Given the description of an element on the screen output the (x, y) to click on. 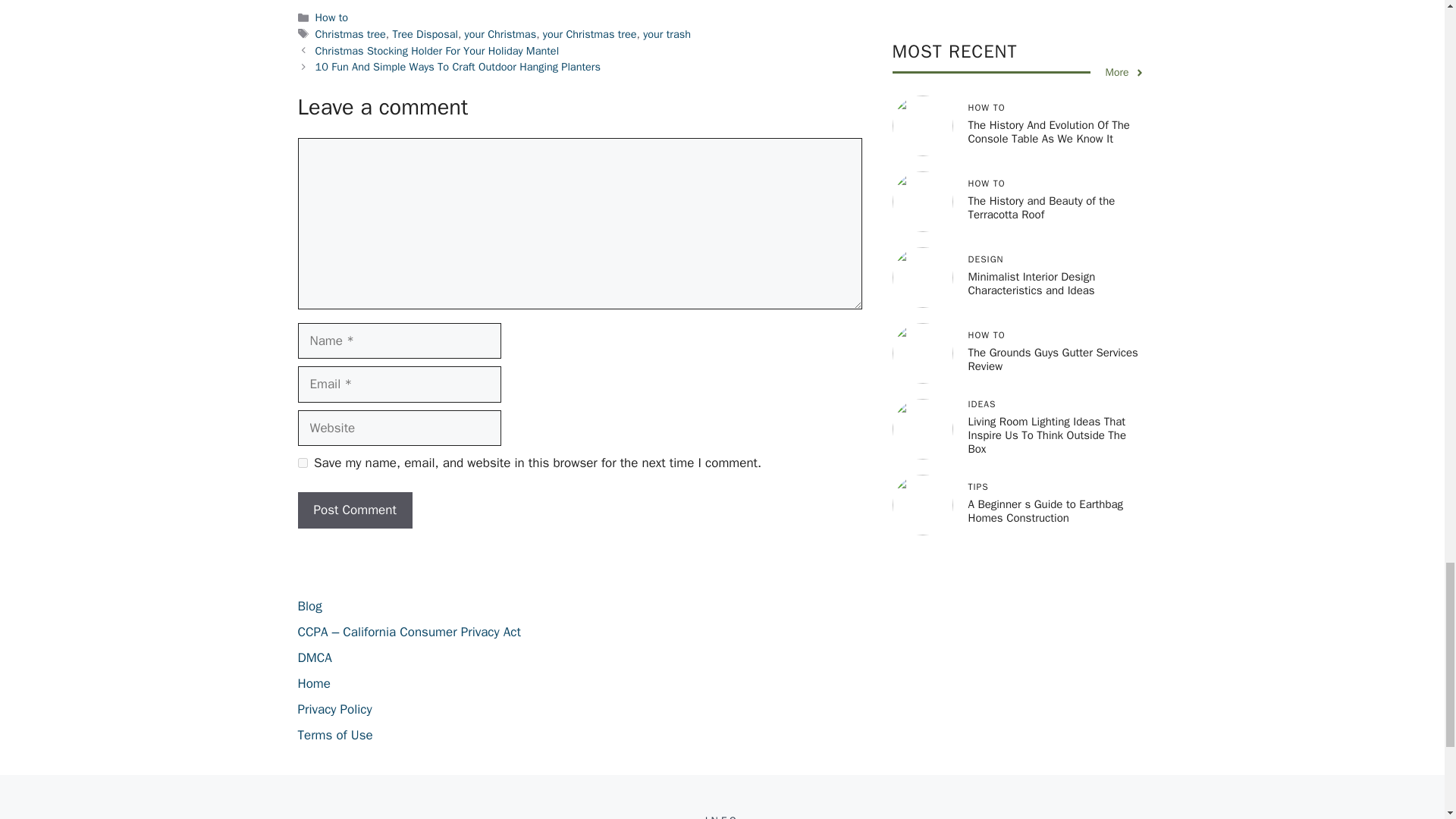
Christmas tree (350, 33)
Post Comment (354, 510)
How to (332, 17)
10 Fun And Simple Ways To Craft Outdoor Hanging Planters (457, 66)
yes (302, 462)
your Christmas tree (590, 33)
Christmas Stocking Holder For Your Holiday Mantel (437, 50)
Post Comment (354, 510)
your trash (666, 33)
your Christmas (500, 33)
